Given the description of an element on the screen output the (x, y) to click on. 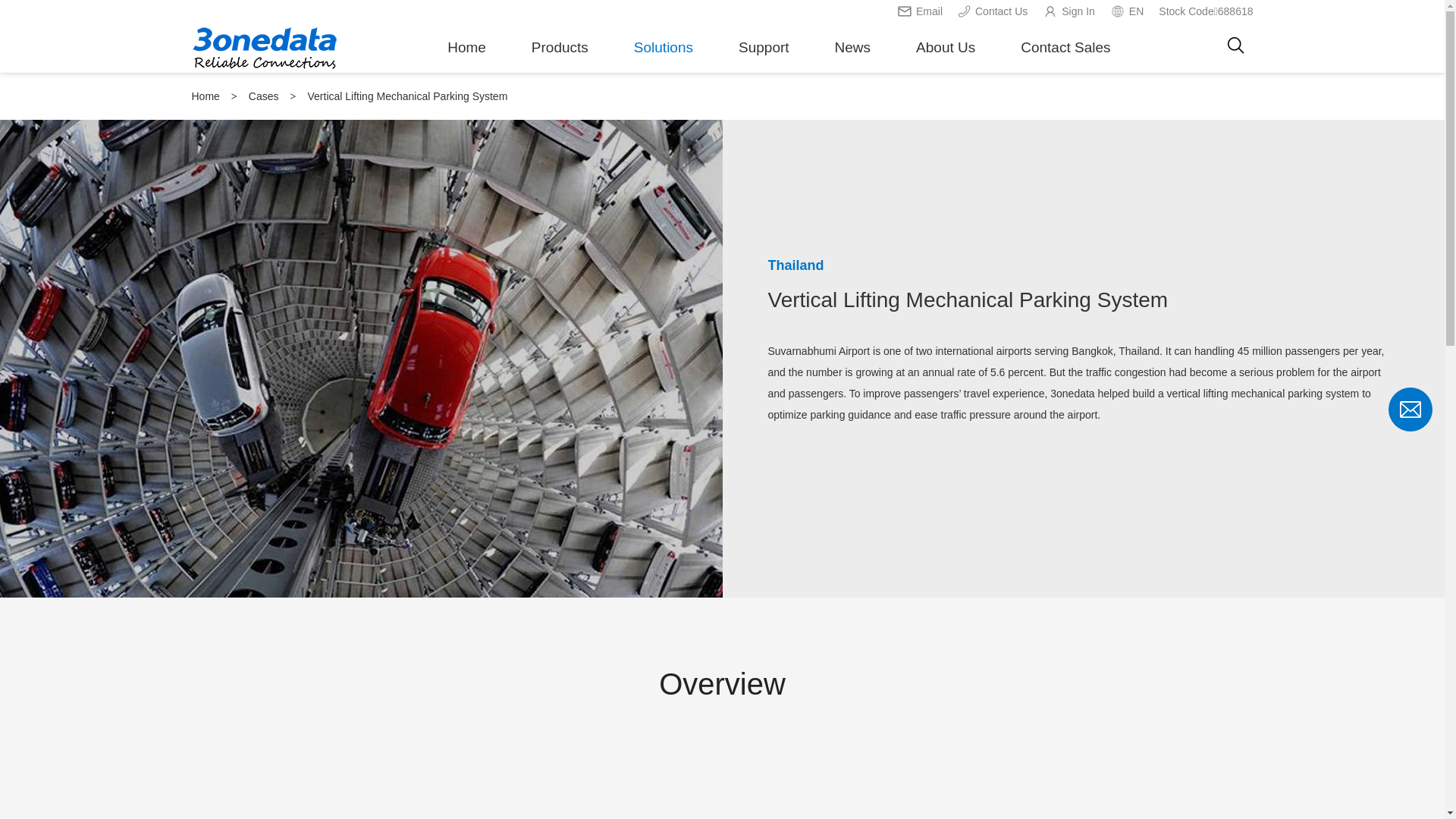
Contact Us Element type: text (992, 11)
Home Element type: text (205, 96)
Vertical Lifting Mechanical Parking System Element type: text (407, 96)
Support Element type: text (763, 58)
Home Element type: text (466, 58)
Products Element type: text (559, 58)
Solutions Element type: text (663, 58)
News Element type: text (852, 58)
Sign In Element type: text (1068, 11)
Cases Element type: text (263, 96)
About Us Element type: text (945, 58)
Email Element type: text (919, 11)
Contact Sales Element type: text (1065, 58)
EN Element type: text (1126, 11)
